Given the description of an element on the screen output the (x, y) to click on. 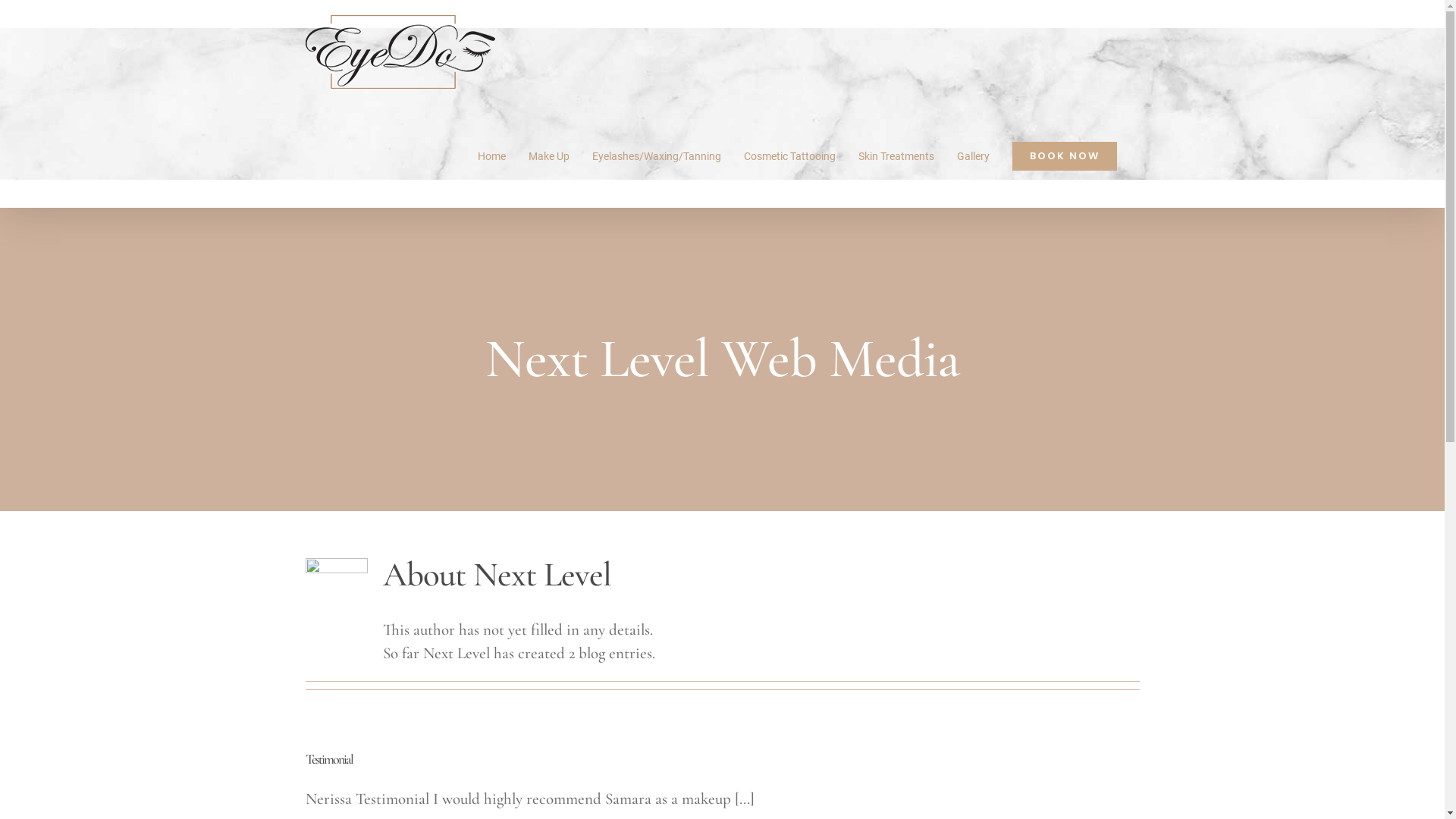
Make Up Element type: text (547, 155)
Testimonial Element type: text (327, 758)
Home Element type: text (491, 155)
BOOK NOW Element type: text (1063, 155)
Cosmetic Tattooing Element type: text (788, 155)
Gallery Element type: text (973, 155)
Eyelashes/Waxing/Tanning Element type: text (655, 155)
Skin Treatments Element type: text (896, 155)
